Given the description of an element on the screen output the (x, y) to click on. 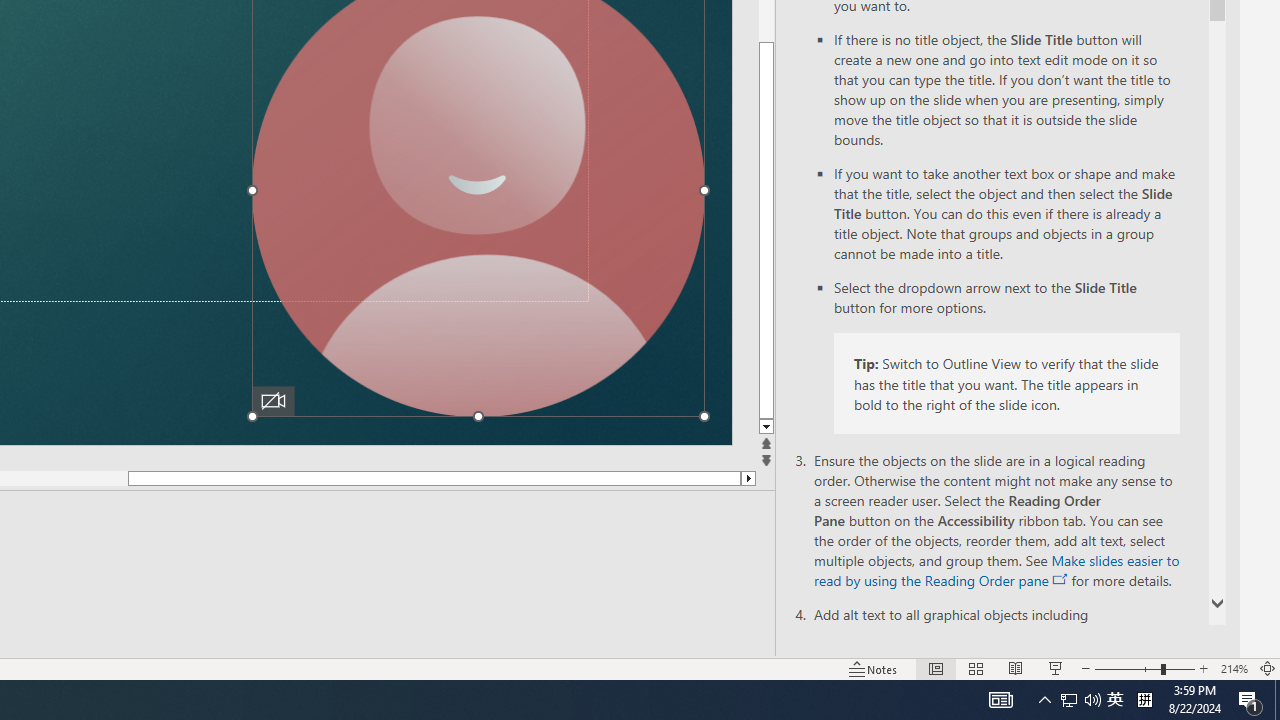
Print Layout (924, 640)
Zoom In (1135, 640)
Increase Text Size (1204, 640)
Poe (201, 687)
Zoom Out (1056, 640)
Web Layout (984, 640)
Focus  (786, 640)
Text Size (1116, 640)
Class: Image (965, 687)
